Given the description of an element on the screen output the (x, y) to click on. 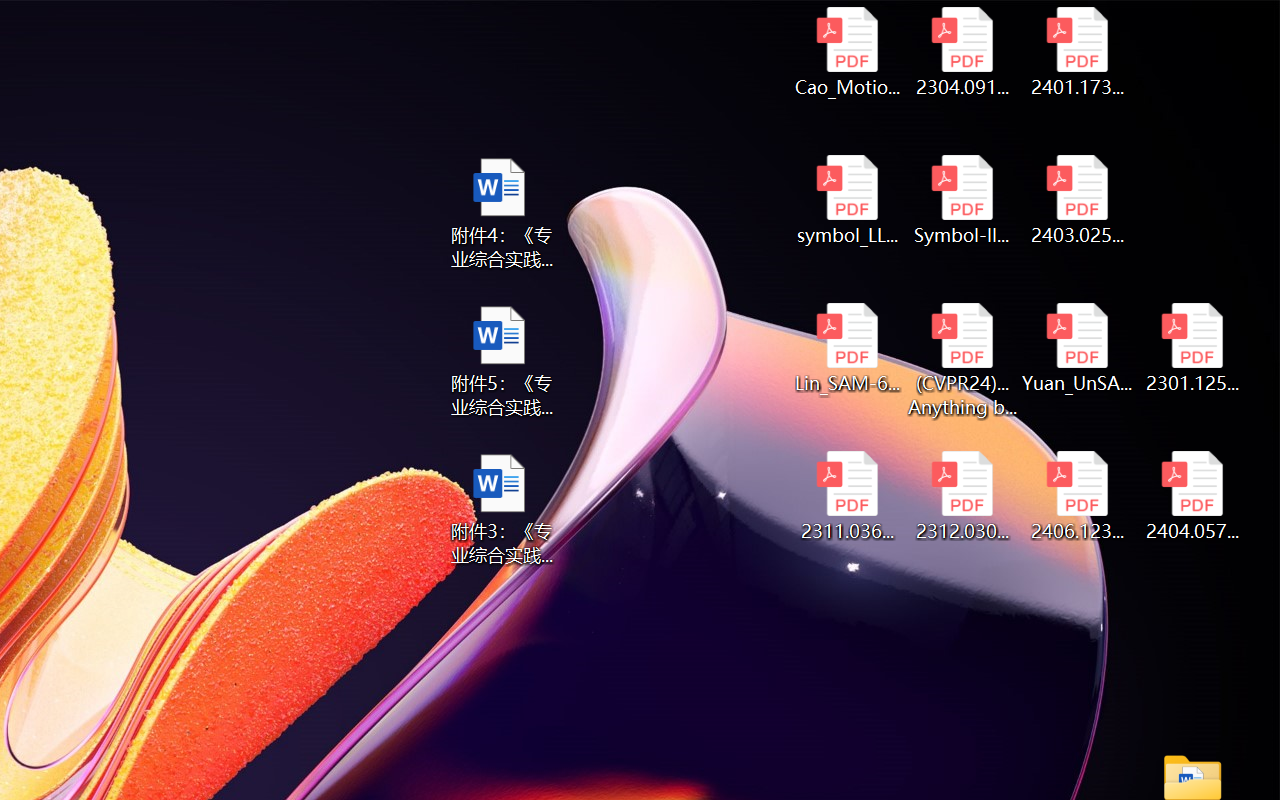
2404.05719v1.pdf (1192, 496)
2401.17399v1.pdf (1077, 52)
2311.03658v2.pdf (846, 496)
2301.12597v3.pdf (1192, 348)
2406.12373v2.pdf (1077, 496)
2304.09121v3.pdf (962, 52)
2312.03032v2.pdf (962, 496)
(CVPR24)Matching Anything by Segmenting Anything.pdf (962, 360)
2403.02502v1.pdf (1077, 200)
symbol_LLM.pdf (846, 200)
